Given the description of an element on the screen output the (x, y) to click on. 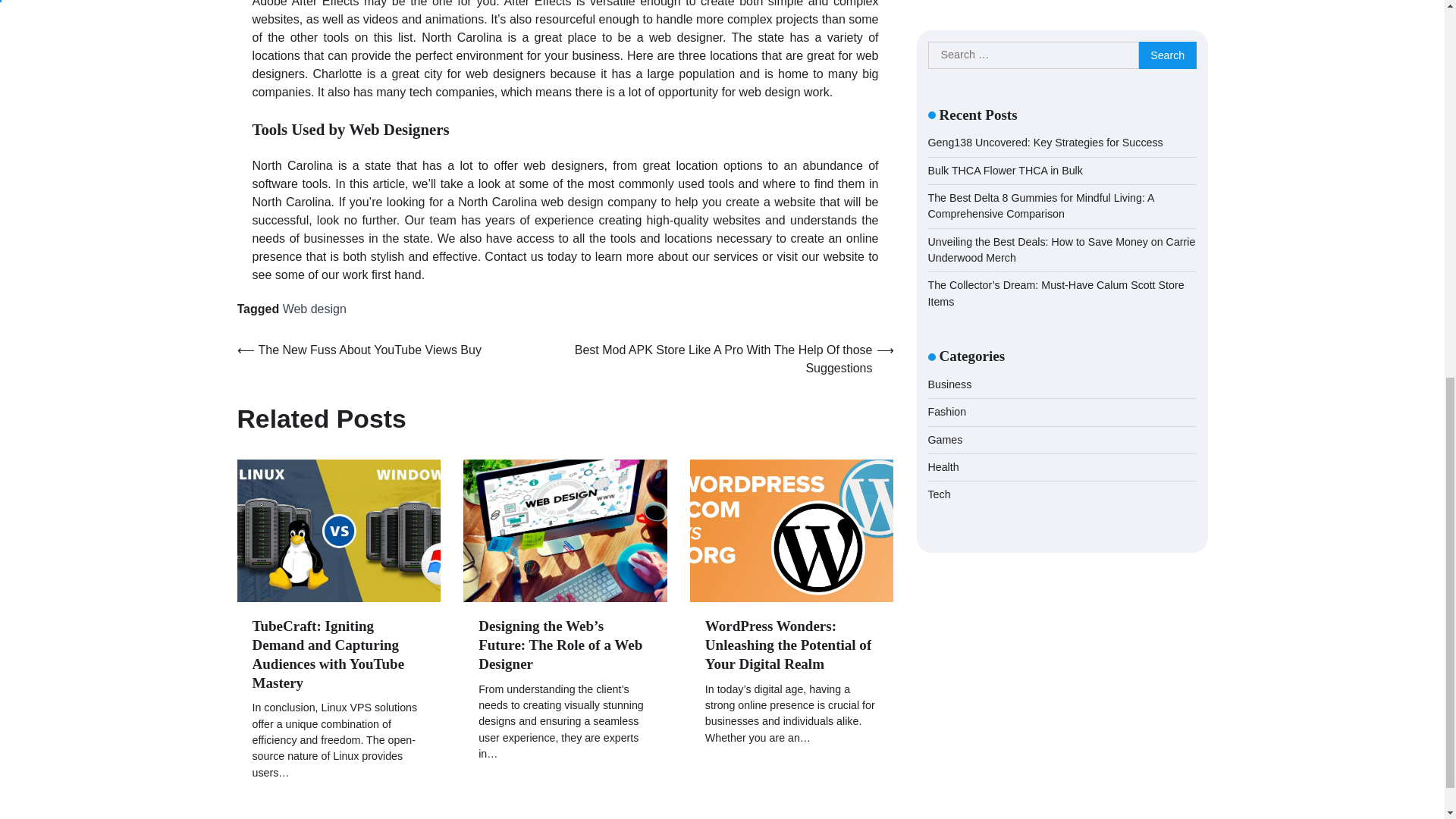
Web design (314, 308)
